Given the description of an element on the screen output the (x, y) to click on. 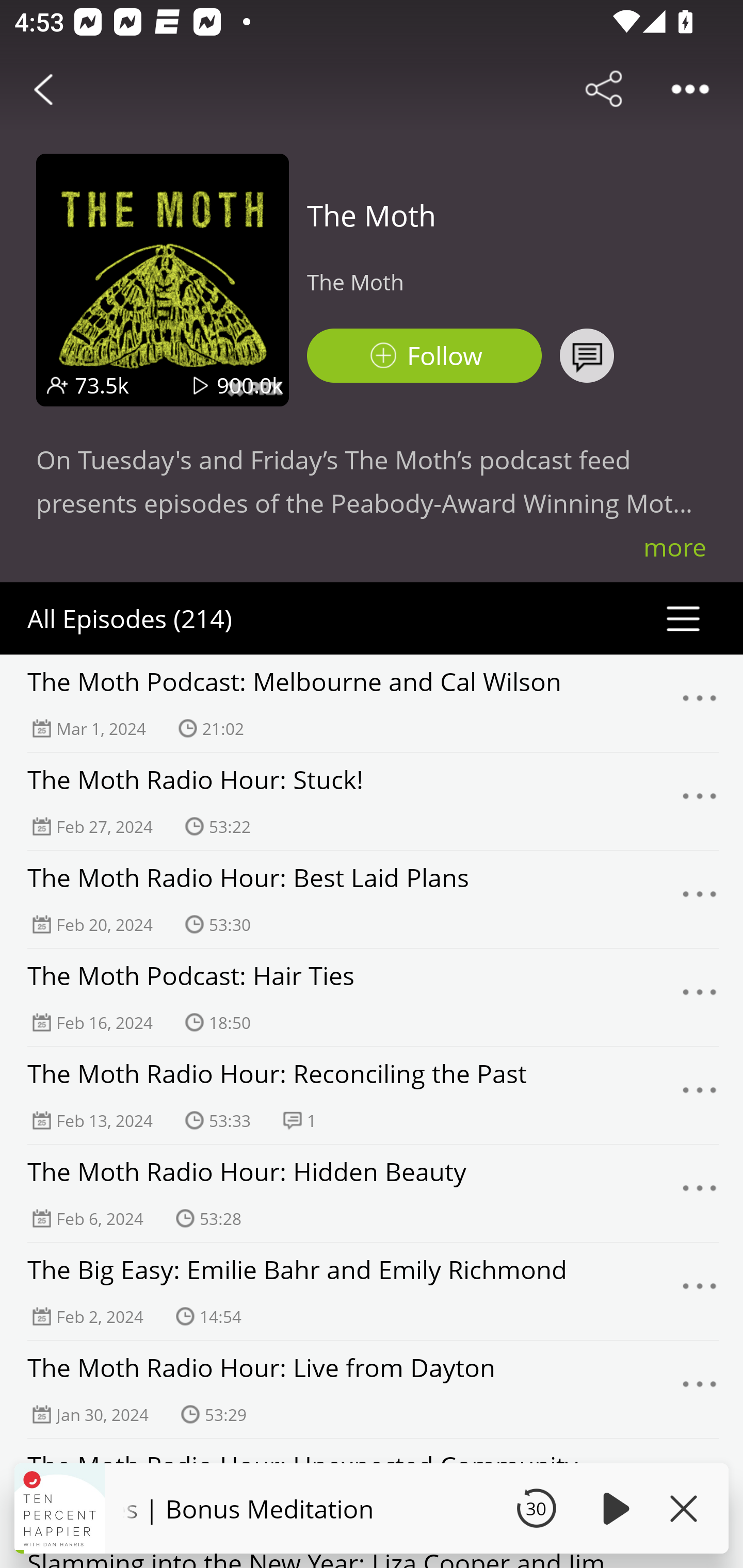
Back (43, 88)
Podbean Follow (423, 355)
73.5k (102, 384)
more (674, 546)
Menu (699, 703)
Menu (699, 801)
Menu (699, 899)
Menu (699, 997)
Menu (699, 1095)
Menu (699, 1193)
Menu (699, 1291)
Menu (699, 1389)
Play (613, 1507)
30 Seek Backward (536, 1508)
